Given the description of an element on the screen output the (x, y) to click on. 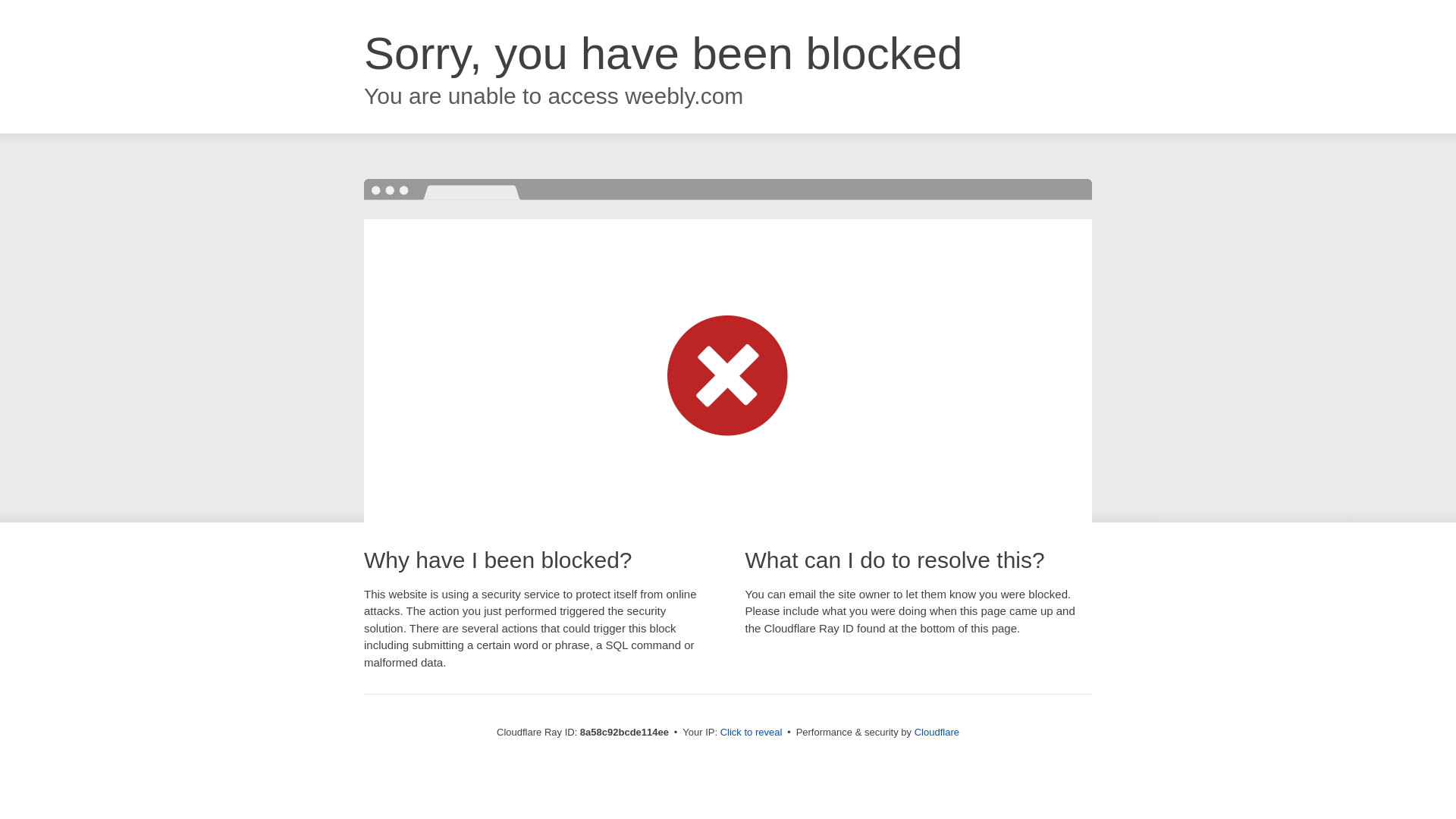
Cloudflare (936, 731)
Click to reveal (751, 732)
